Given the description of an element on the screen output the (x, y) to click on. 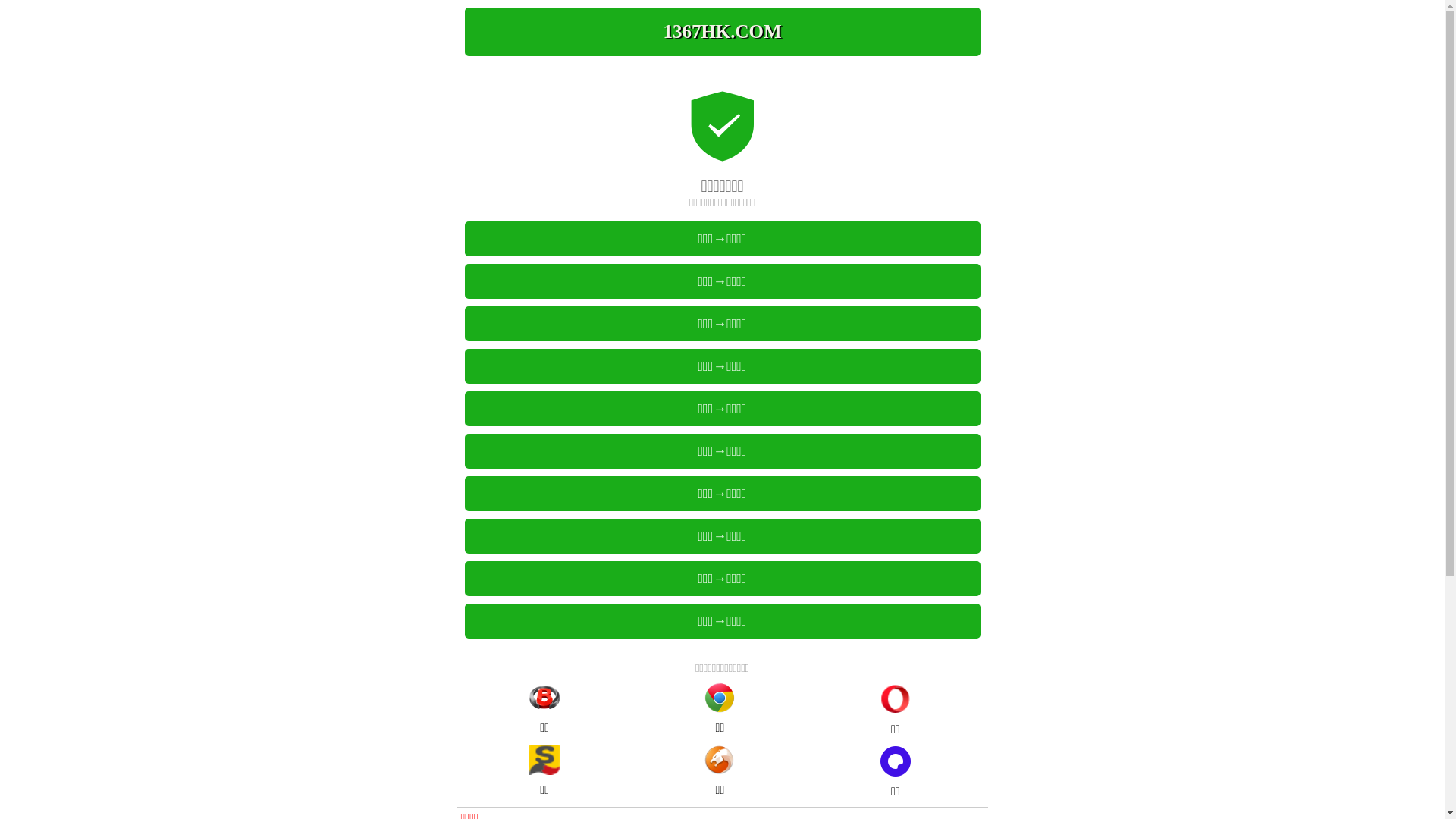
1365HK.COM Element type: text (721, 31)
